Given the description of an element on the screen output the (x, y) to click on. 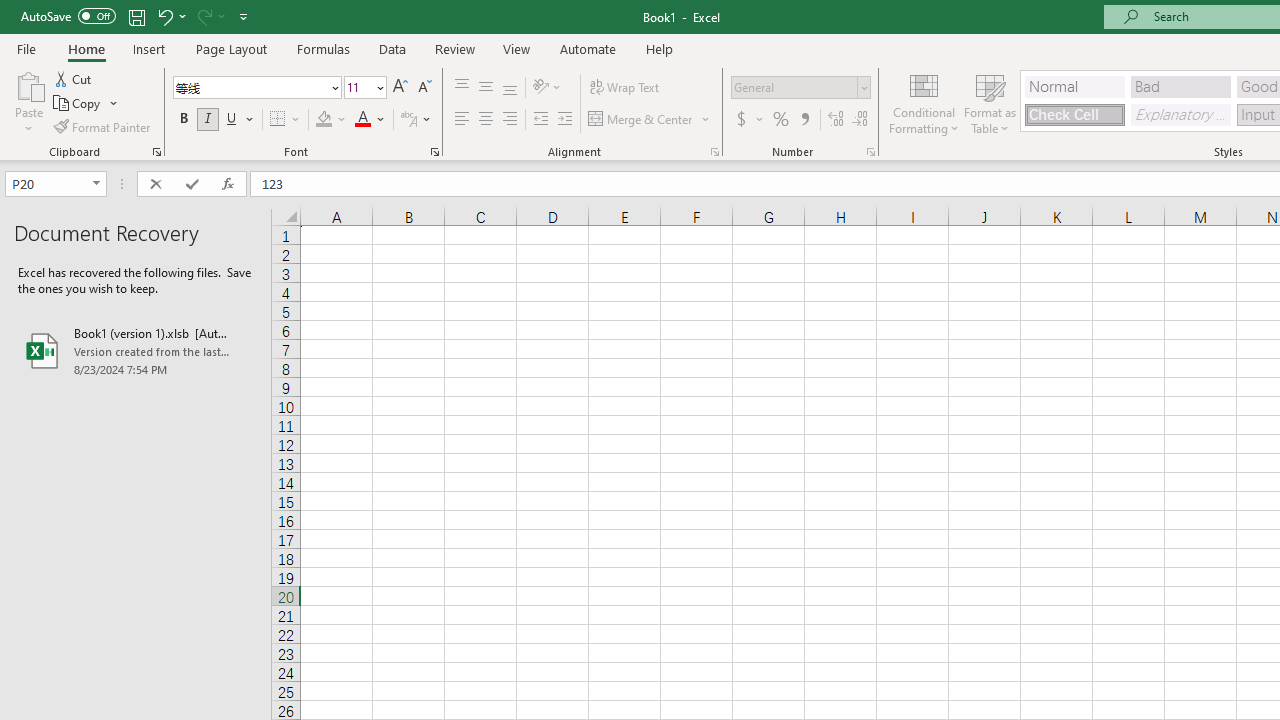
Wrap Text (624, 87)
Bold (183, 119)
Middle Align (485, 87)
Format Painter (103, 126)
Show Phonetic Field (416, 119)
Accounting Number Format (749, 119)
Number Format (800, 87)
Italic (207, 119)
Bottom Border (278, 119)
Fill Color (331, 119)
Increase Decimal (836, 119)
Number Format (794, 87)
Copy (85, 103)
